Given the description of an element on the screen output the (x, y) to click on. 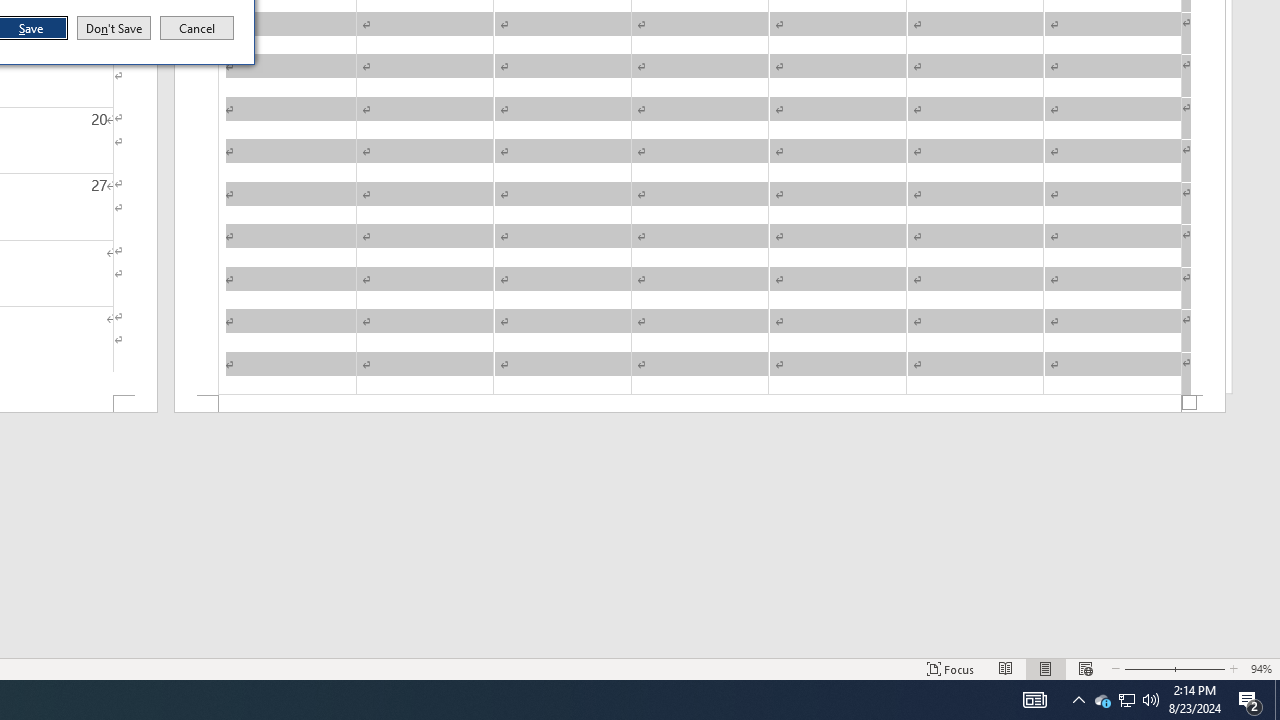
Footer -Section 1- (700, 404)
Q2790: 100% (1151, 699)
User Promoted Notification Area (1126, 699)
Don't Save (1102, 699)
Show desktop (113, 27)
AutomationID: 4105 (1277, 699)
Cancel (1034, 699)
Action Center, 2 new notifications (197, 27)
